Given the description of an element on the screen output the (x, y) to click on. 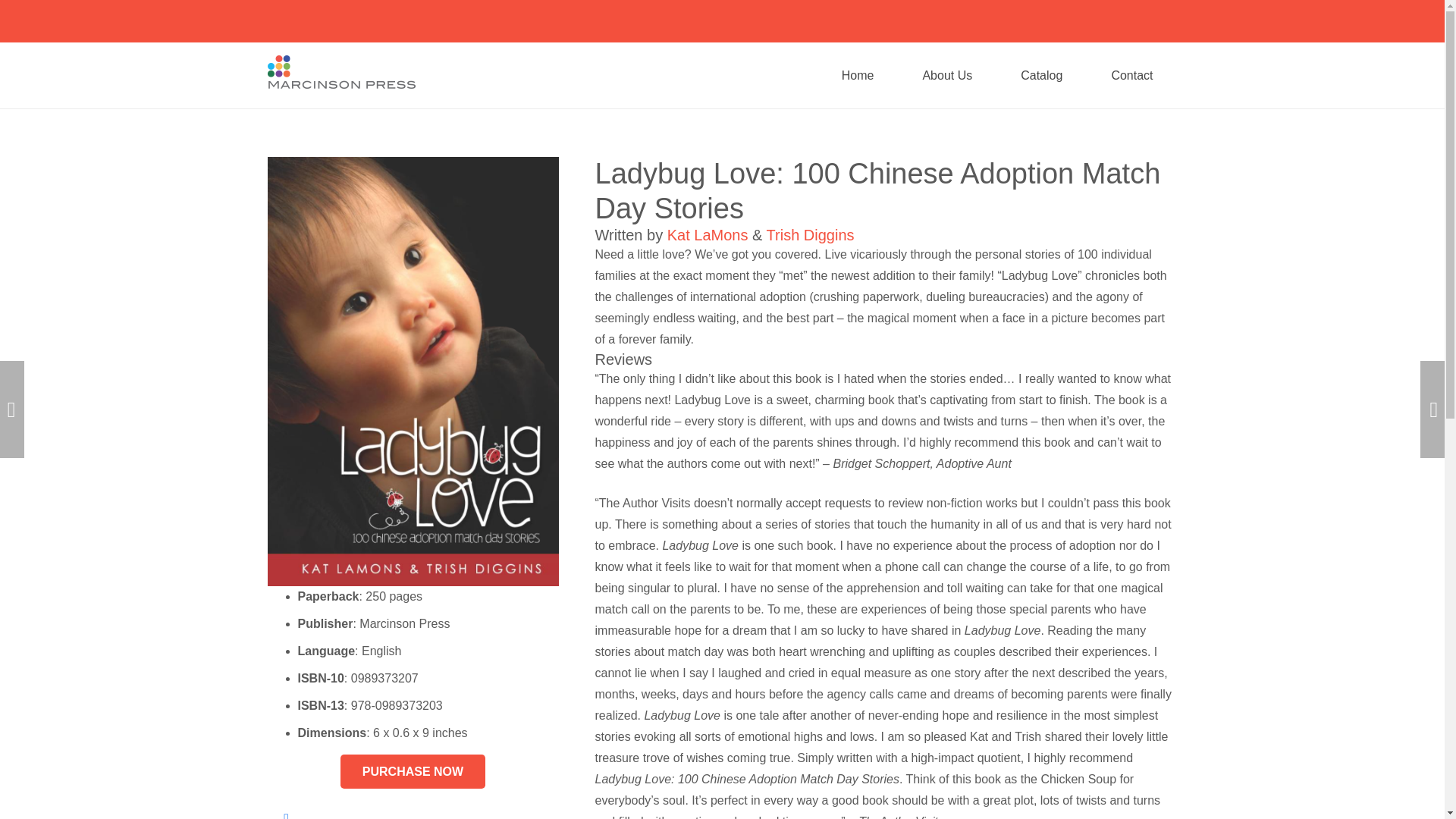
Facebook (285, 809)
Kat LaMons (707, 234)
PURCHASE NOW (412, 771)
contact us (784, 598)
352-263-0910 (1014, 492)
Catalog (1040, 75)
Twitter (1071, 604)
Trish Diggins (810, 234)
Email (995, 604)
Facebook (1033, 604)
